Given the description of an element on the screen output the (x, y) to click on. 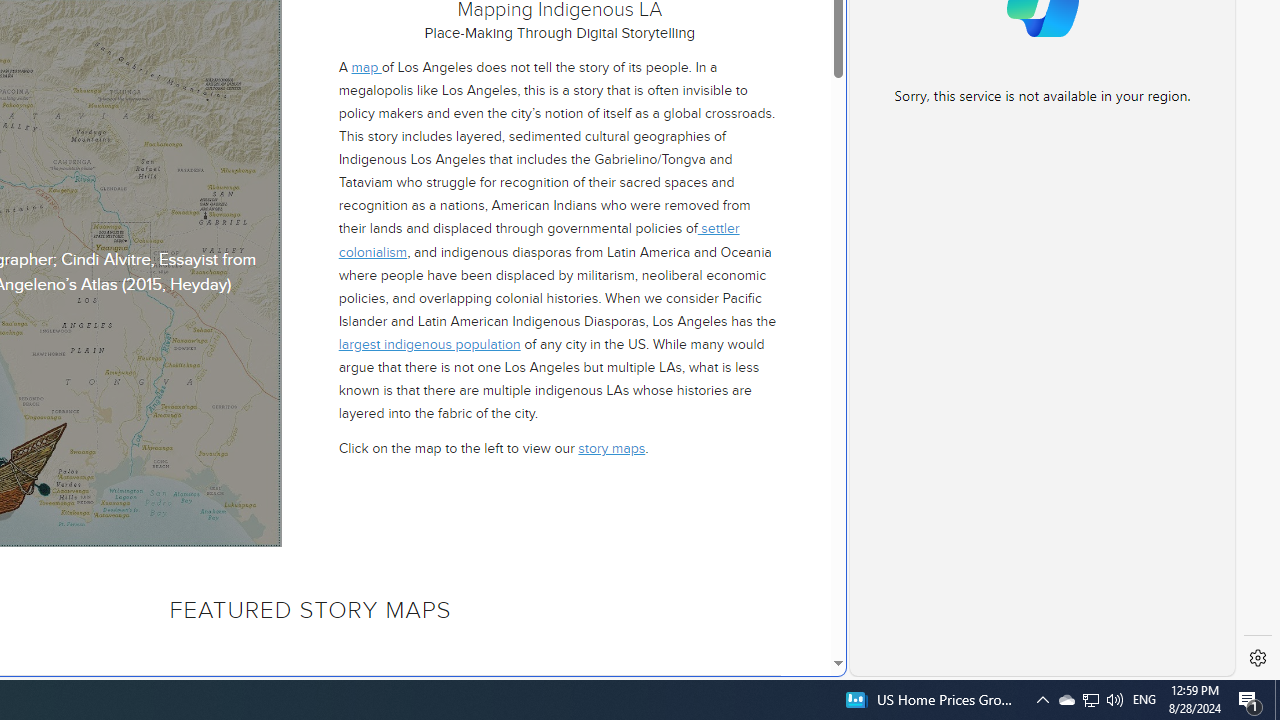
story maps (612, 448)
Settings (1258, 658)
map  (365, 66)
largest indigenous population (428, 344)
 settler colonialism (538, 240)
